Given the description of an element on the screen output the (x, y) to click on. 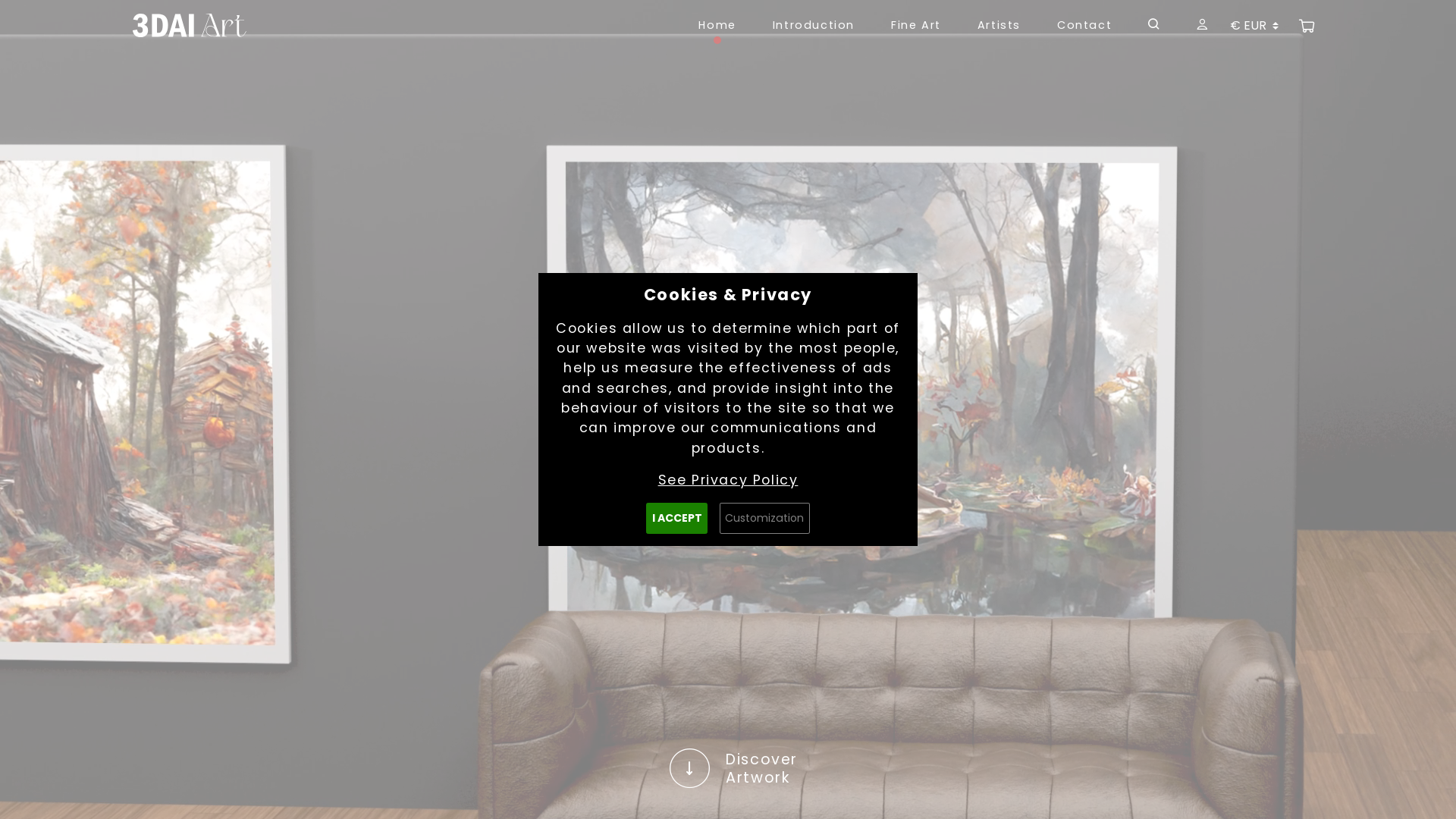
Home Element type: text (716, 25)
I ACCEPT Element type: text (676, 517)
Contact Element type: text (1083, 25)
Fine Art Element type: text (915, 25)
See Privacy Policy Element type: text (728, 479)
Customization Element type: text (764, 517)
Introduction Element type: text (813, 25)
Artists Element type: text (998, 25)
